Given the description of an element on the screen output the (x, y) to click on. 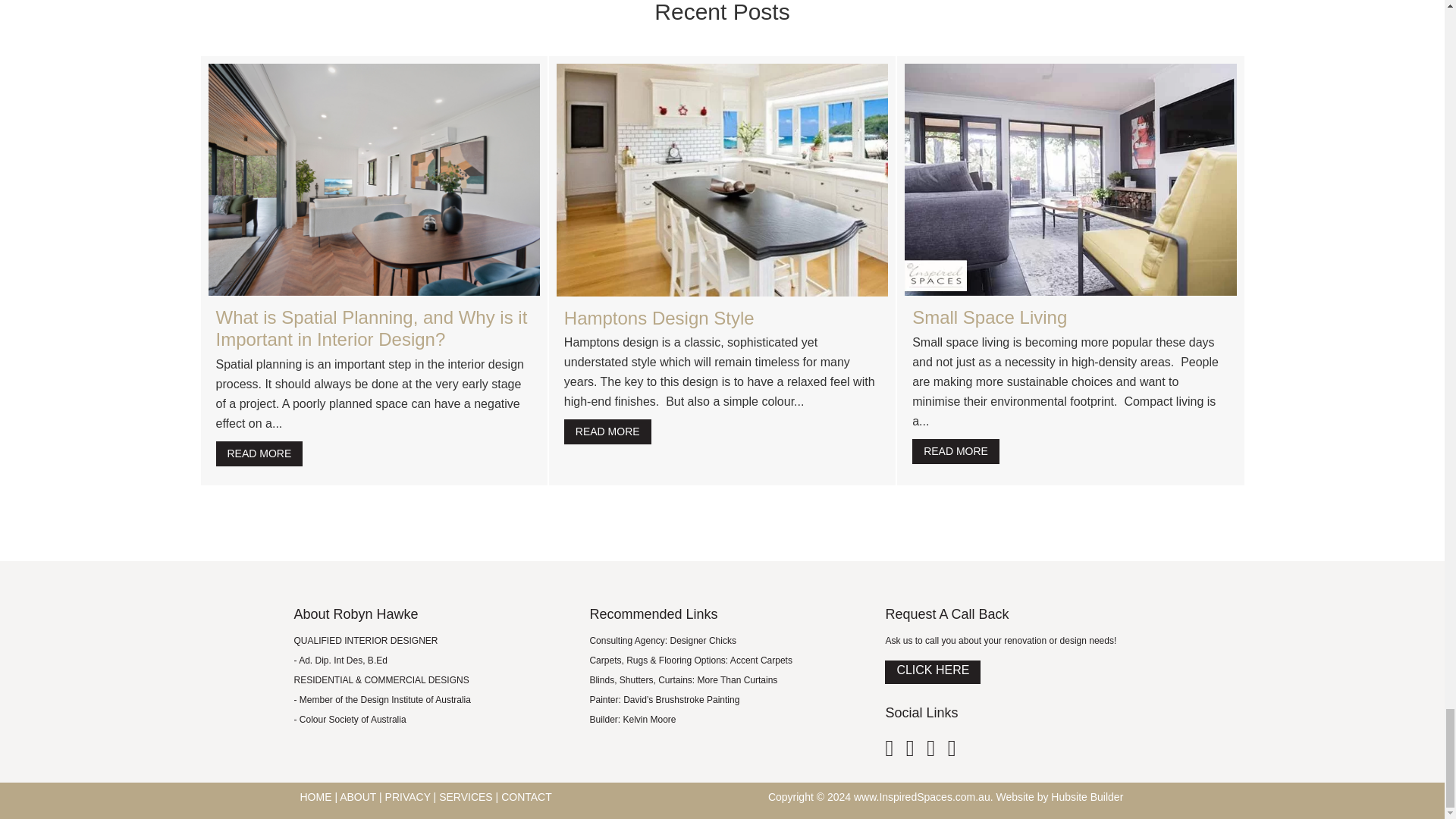
Small Space Living (955, 451)
Small Space Living (989, 317)
hampton-kitchen-2-twin-creeks (722, 179)
PernnyGranny 1 -8 (373, 179)
Living room after renovation (1070, 179)
Hamptons Design Style (659, 317)
Hamptons Design Style (607, 431)
